Given the description of an element on the screen output the (x, y) to click on. 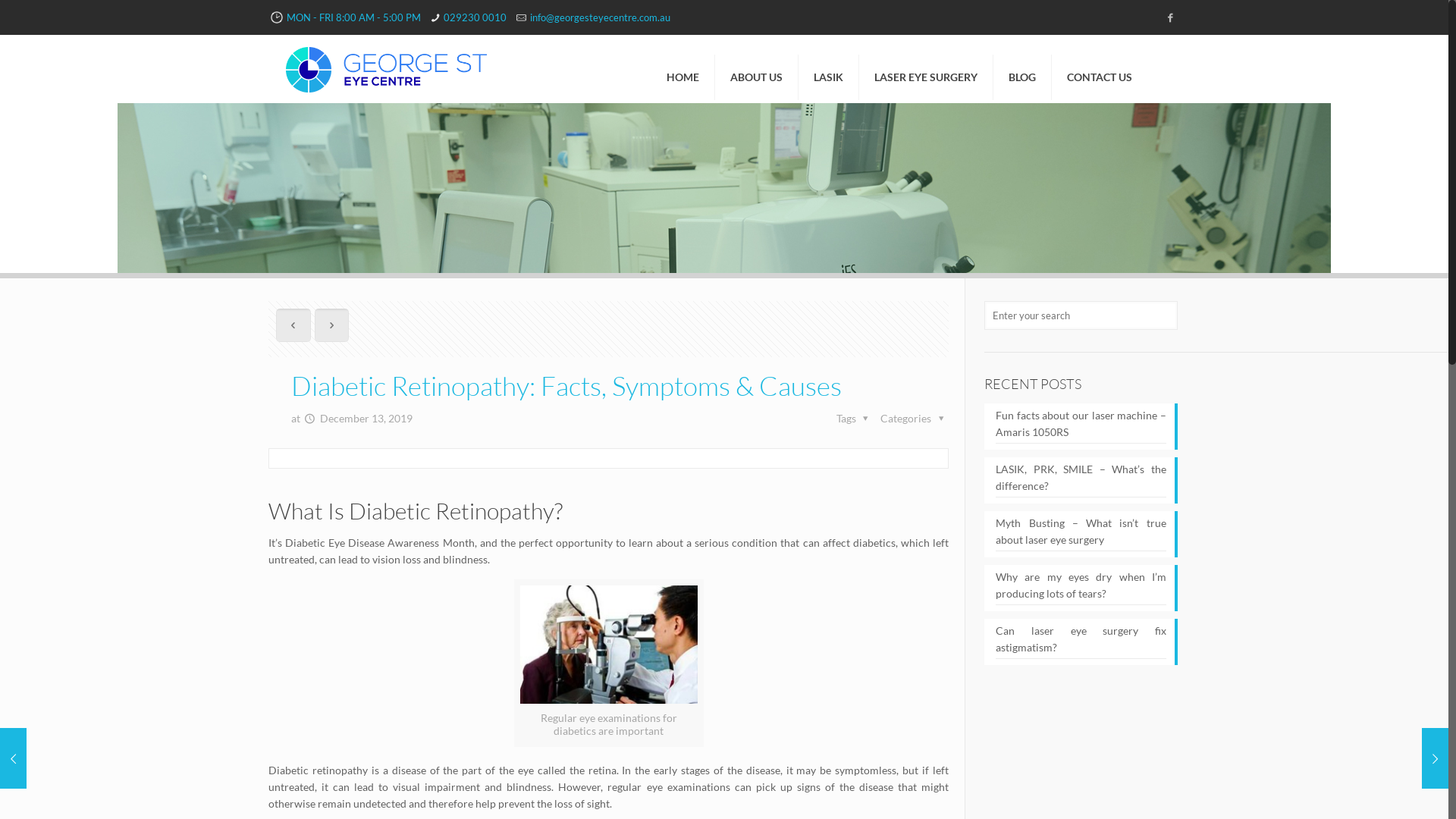
HOME Element type: text (683, 67)
LASER EYE SURGERY Element type: text (926, 67)
Can laser eye surgery fix astigmatism? Element type: text (1080, 640)
Facebook Element type: hover (1170, 17)
029230 0010 Element type: text (474, 17)
ABOUT US Element type: text (756, 67)
LASIK Element type: text (828, 67)
info@georgesteyecentre.com.au Element type: text (600, 17)
CONTACT US Element type: text (1099, 67)
BLOG Element type: text (1022, 67)
